Given the description of an element on the screen output the (x, y) to click on. 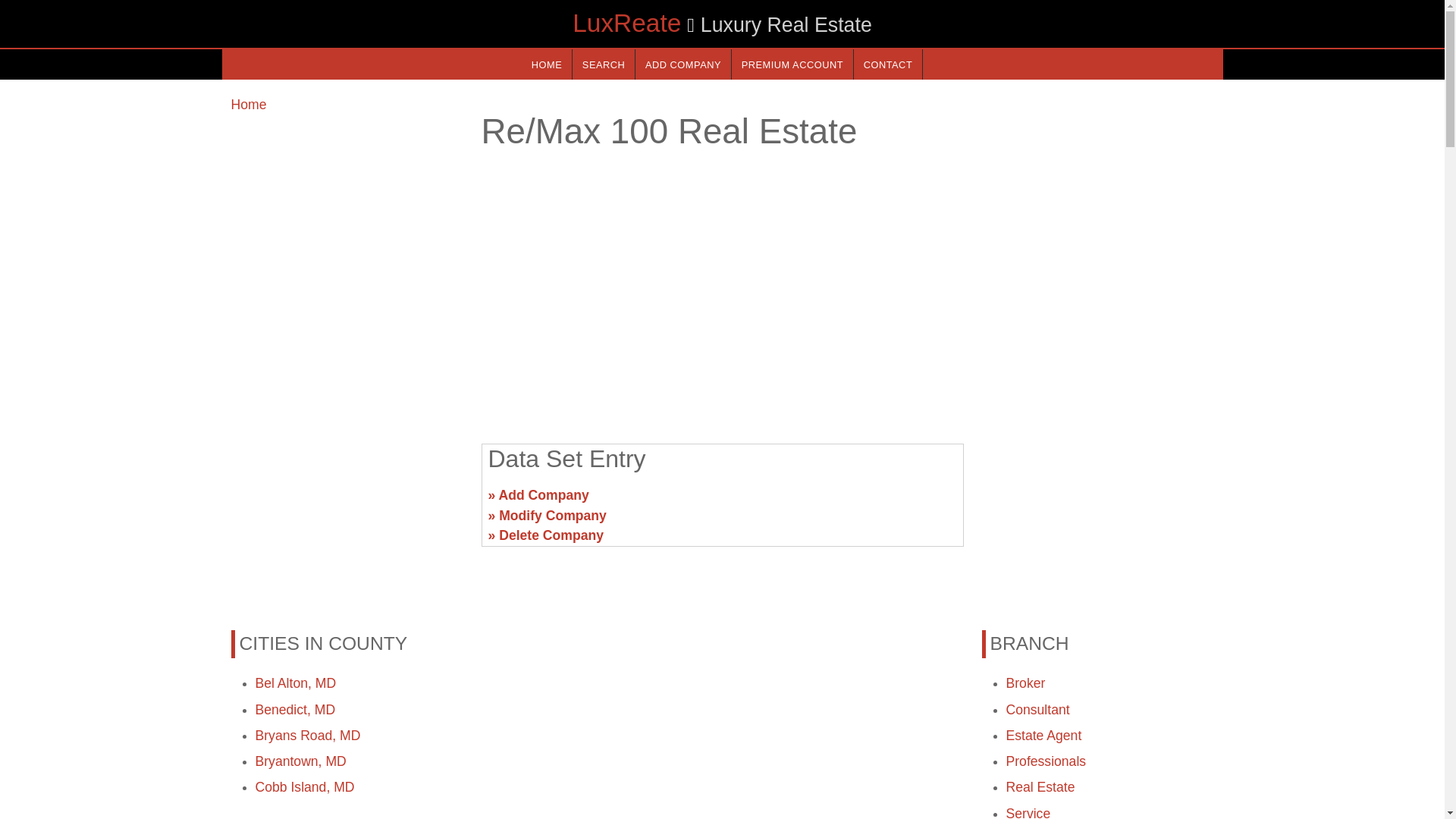
LuxReate (626, 22)
Professionals (1046, 761)
Benedict, MD (294, 709)
Bryantown, MD (300, 761)
Real Estate (1040, 786)
Add a new company (682, 64)
Premium account (792, 64)
Search in this webseite. (603, 64)
ADD COMPANY (682, 64)
Broker (1025, 683)
